Given the description of an element on the screen output the (x, y) to click on. 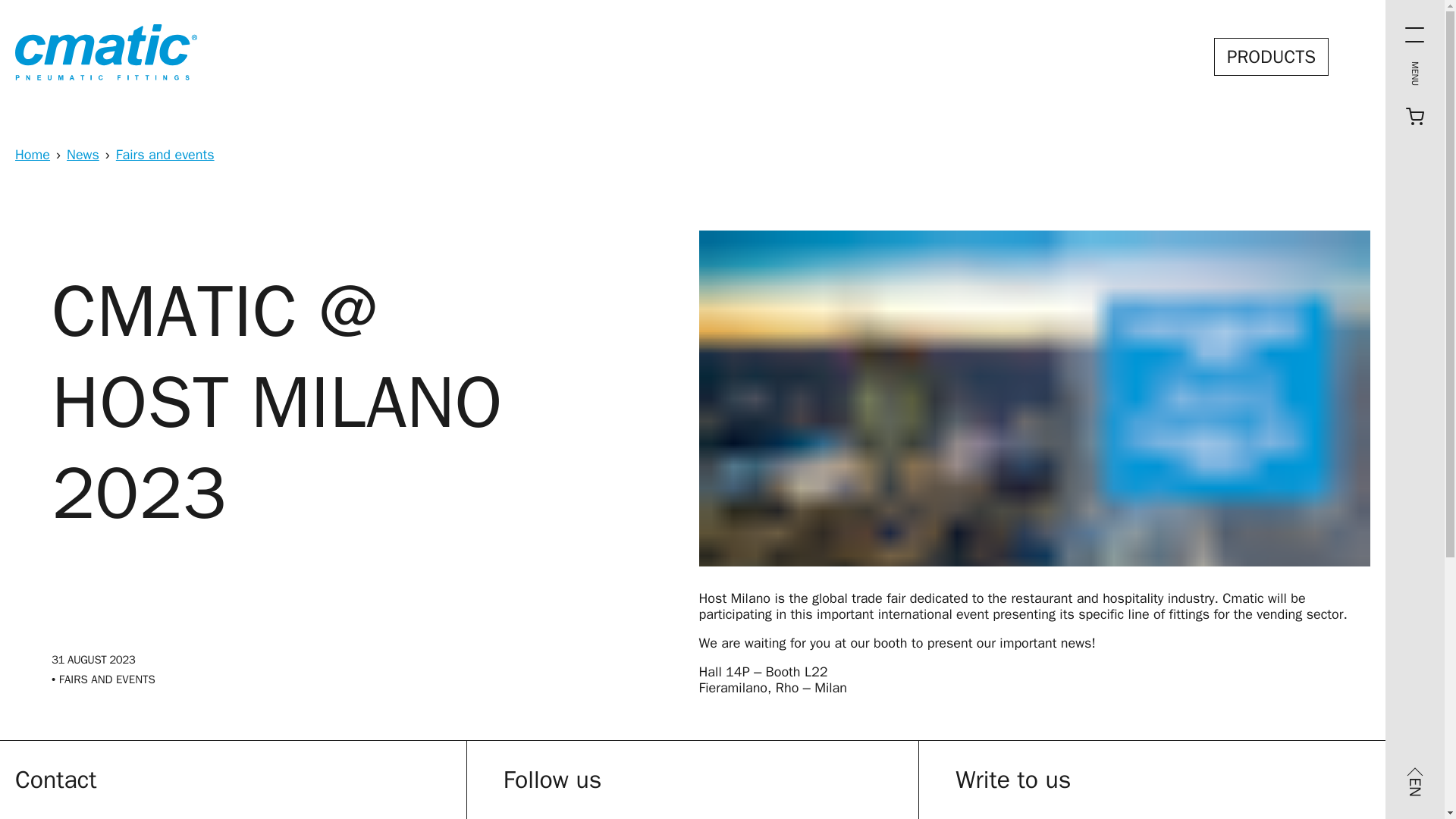
PRODUCTS (1270, 56)
